Given the description of an element on the screen output the (x, y) to click on. 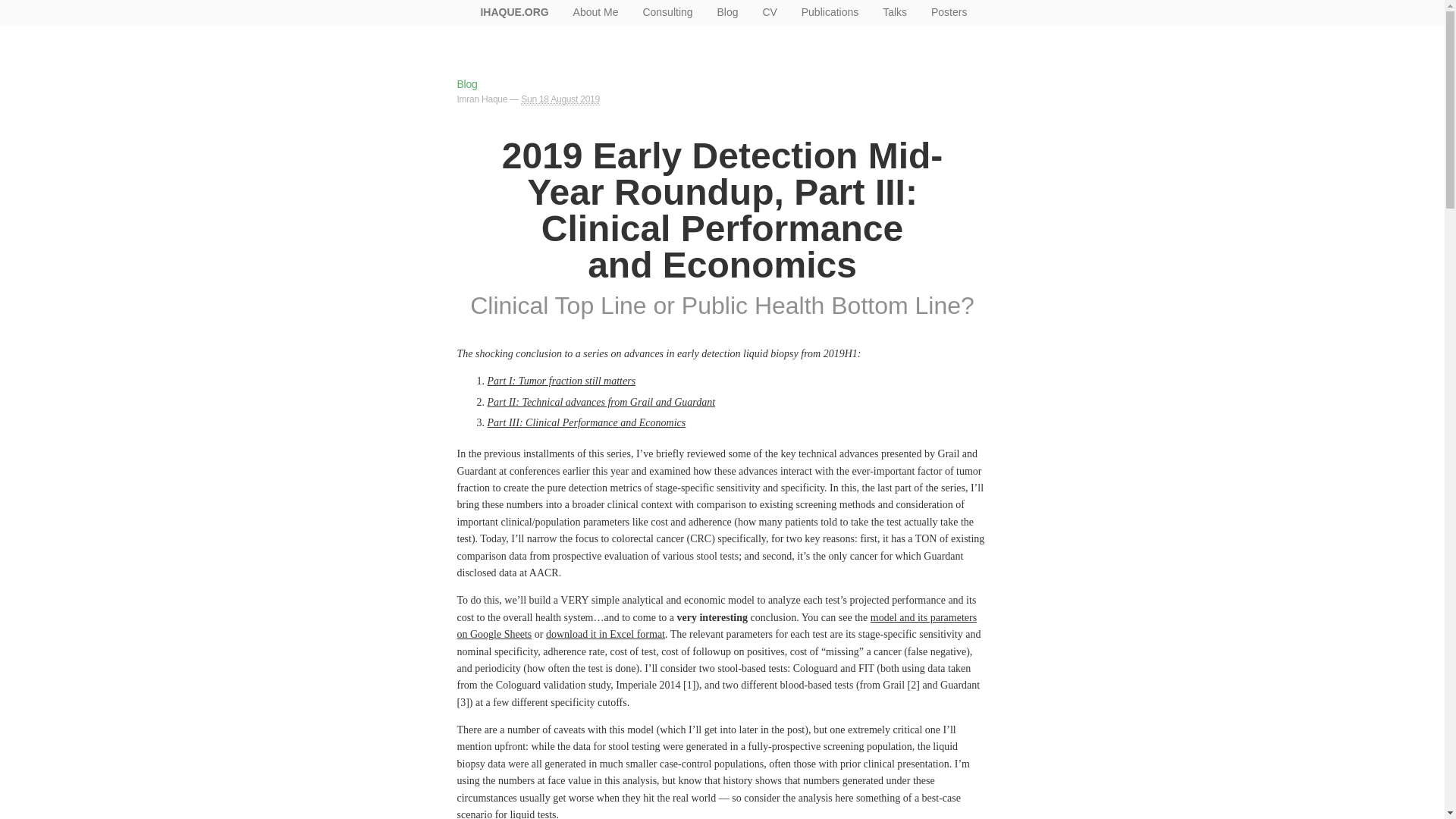
IHAQUE.ORG (513, 12)
model and its parameters on Google Sheets (716, 625)
Part III: Clinical Performance and Economics (585, 422)
Imran Haque (481, 99)
Posters (948, 12)
Part II: Technical advances from Grail and Guardant (600, 401)
Consulting (667, 12)
2019-08-18T00:00:00-07:00 (560, 99)
Blog (467, 83)
About Me (595, 12)
CV (769, 12)
Talks (894, 12)
Blog (727, 12)
Part I: Tumor fraction still matters (560, 380)
Publications (829, 12)
